Given the description of an element on the screen output the (x, y) to click on. 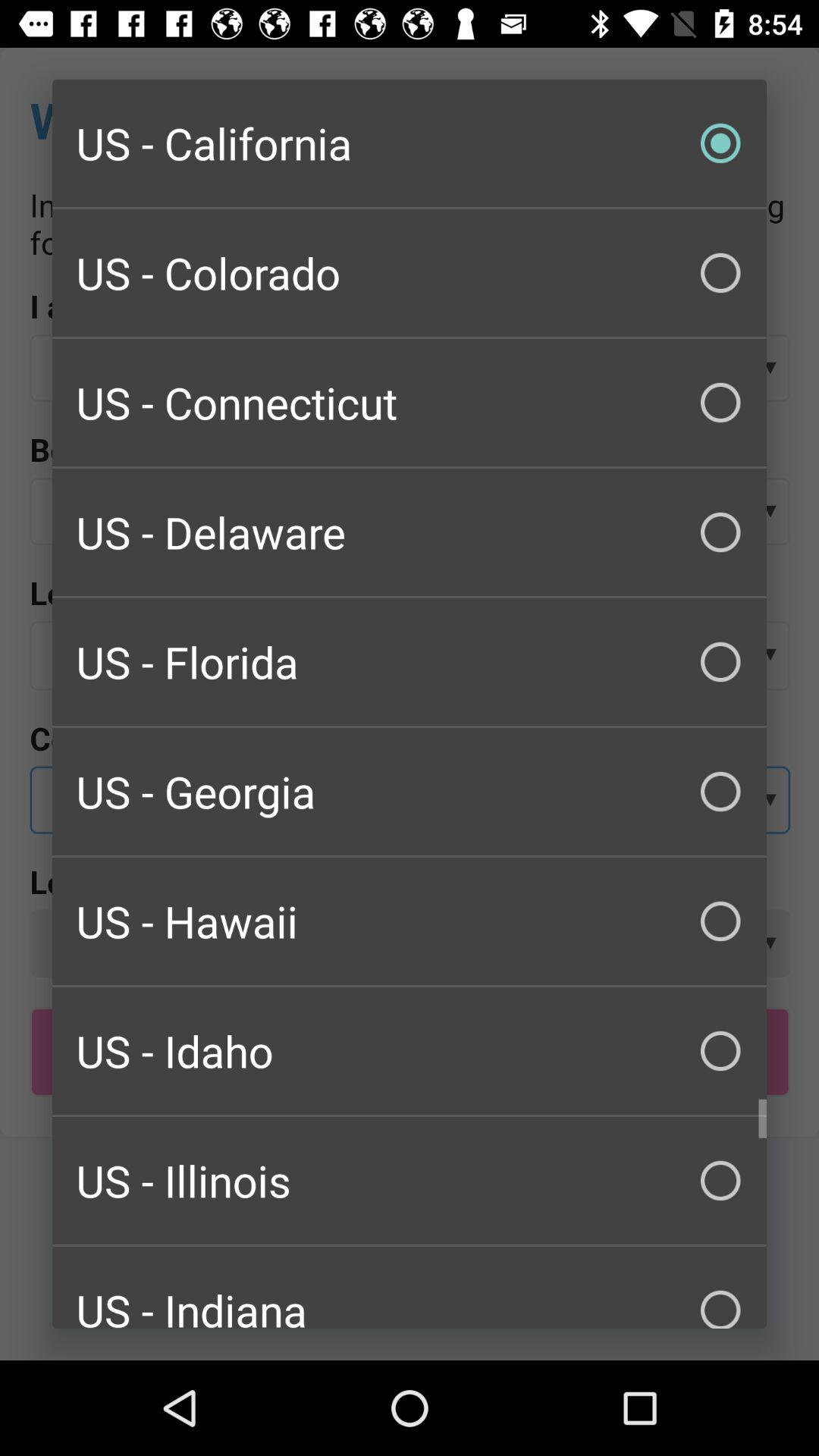
jump to the us - florida (409, 661)
